Given the description of an element on the screen output the (x, y) to click on. 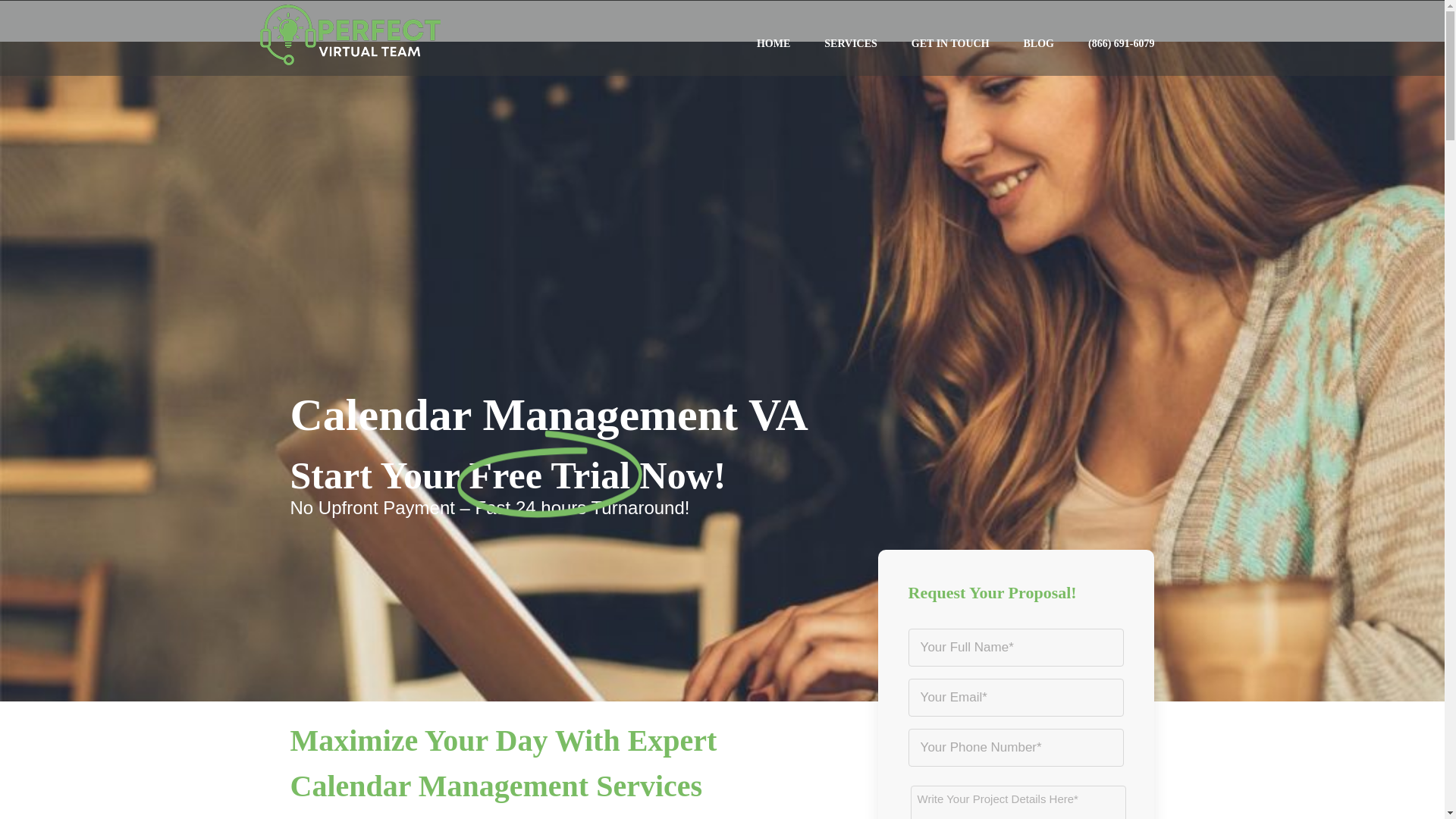
GET IN TOUCH (950, 43)
